Given the description of an element on the screen output the (x, y) to click on. 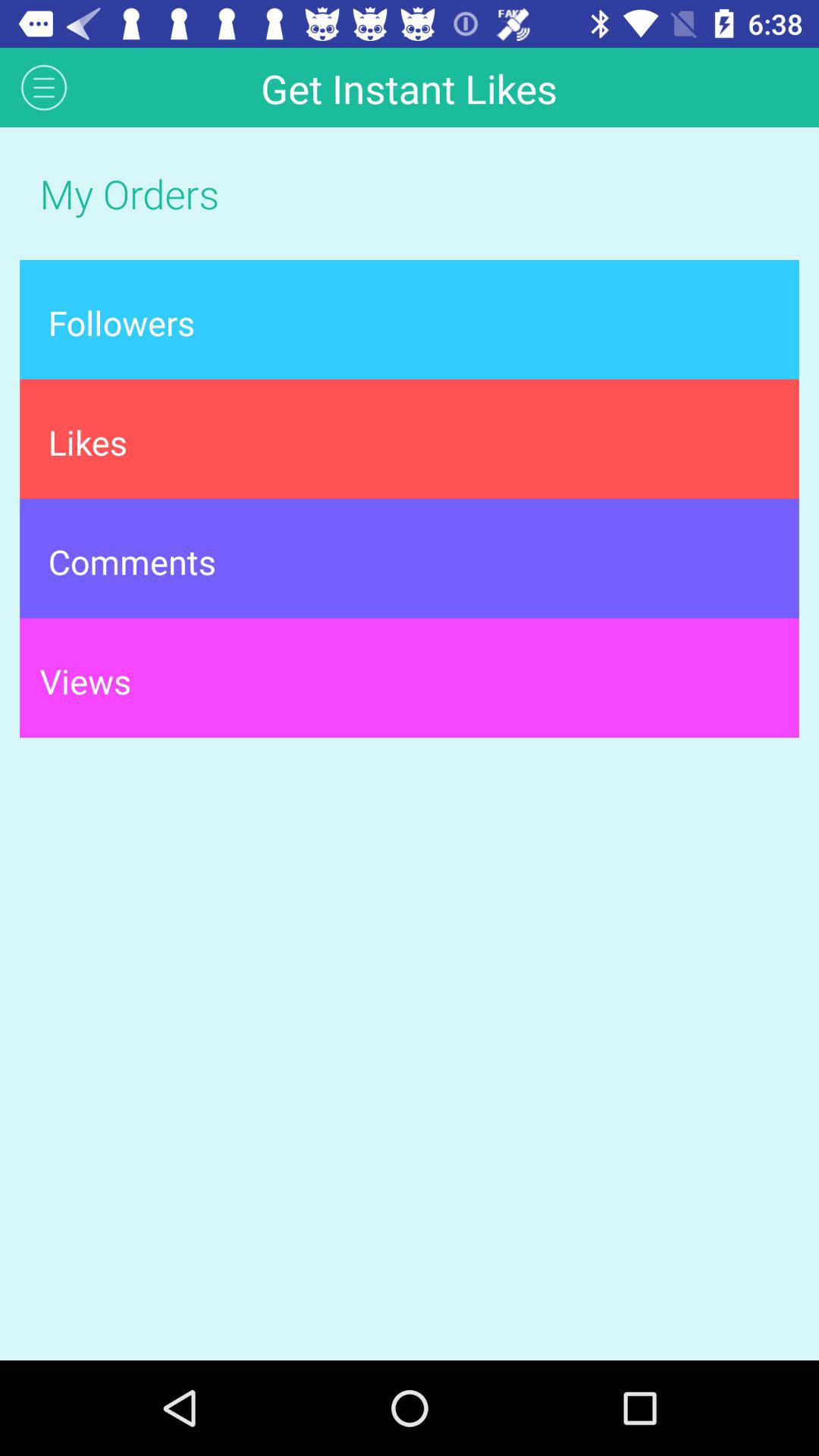
swipe to the  followers (409, 319)
